Given the description of an element on the screen output the (x, y) to click on. 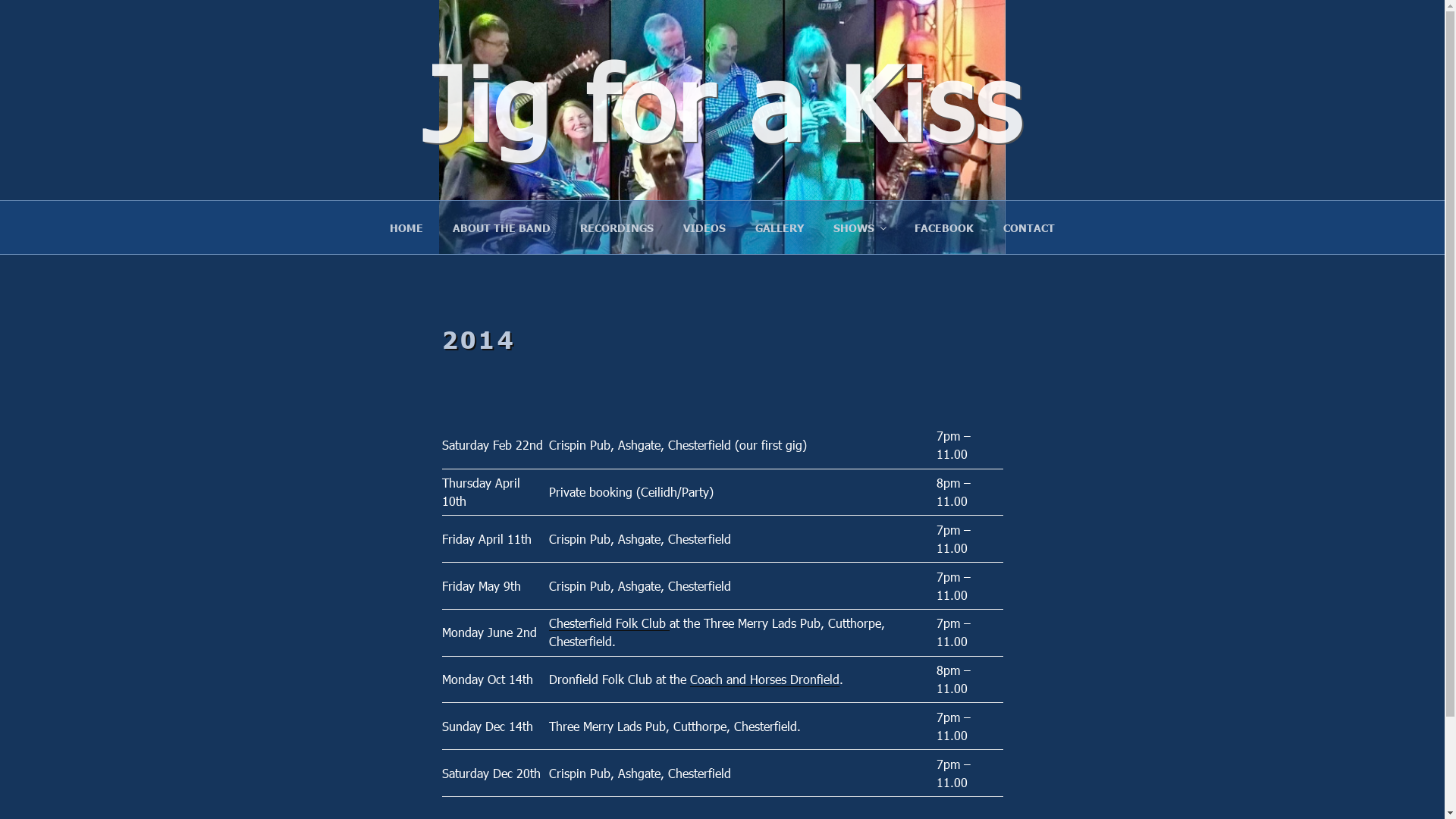
Coach and Horses Dronfield Element type: text (764, 679)
ABOUT THE BAND Element type: text (501, 227)
VIDEOS Element type: text (704, 227)
GALLERY Element type: text (778, 227)
CONTACT Element type: text (1029, 227)
RECORDINGS Element type: text (617, 227)
FACEBOOK Element type: text (943, 227)
HOME Element type: text (406, 227)
Jig for a Kiss Element type: text (722, 99)
SHOWS Element type: text (859, 227)
Chesterfield Folk Club Element type: text (609, 622)
Skip to content Element type: text (0, 0)
